Given the description of an element on the screen output the (x, y) to click on. 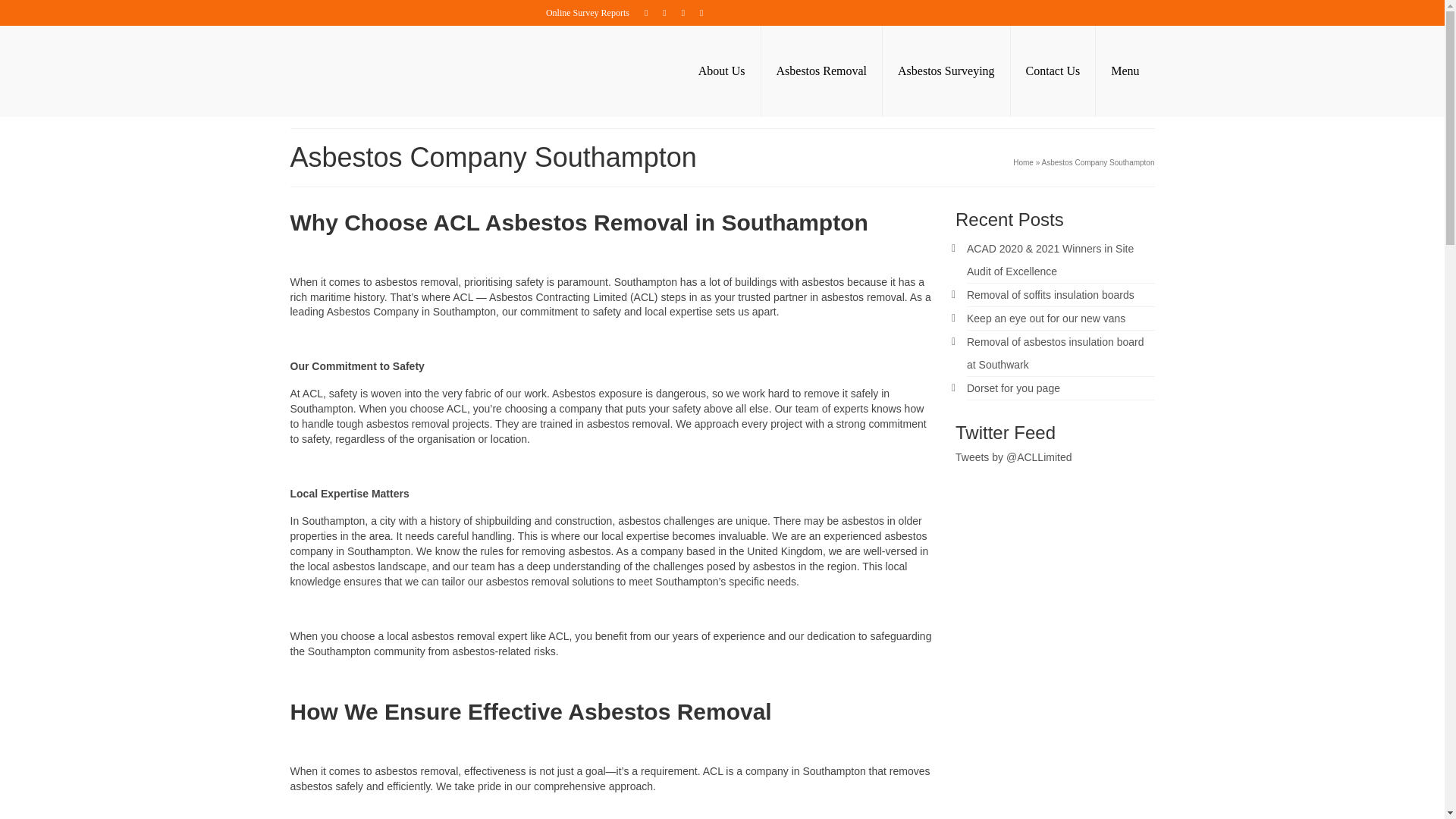
Online Survey Reports (587, 12)
Asbestos Removal (821, 71)
Contact Us (1053, 71)
Asbestos Contracting Limited  (425, 71)
Asbestos Surveying (946, 71)
